Given the description of an element on the screen output the (x, y) to click on. 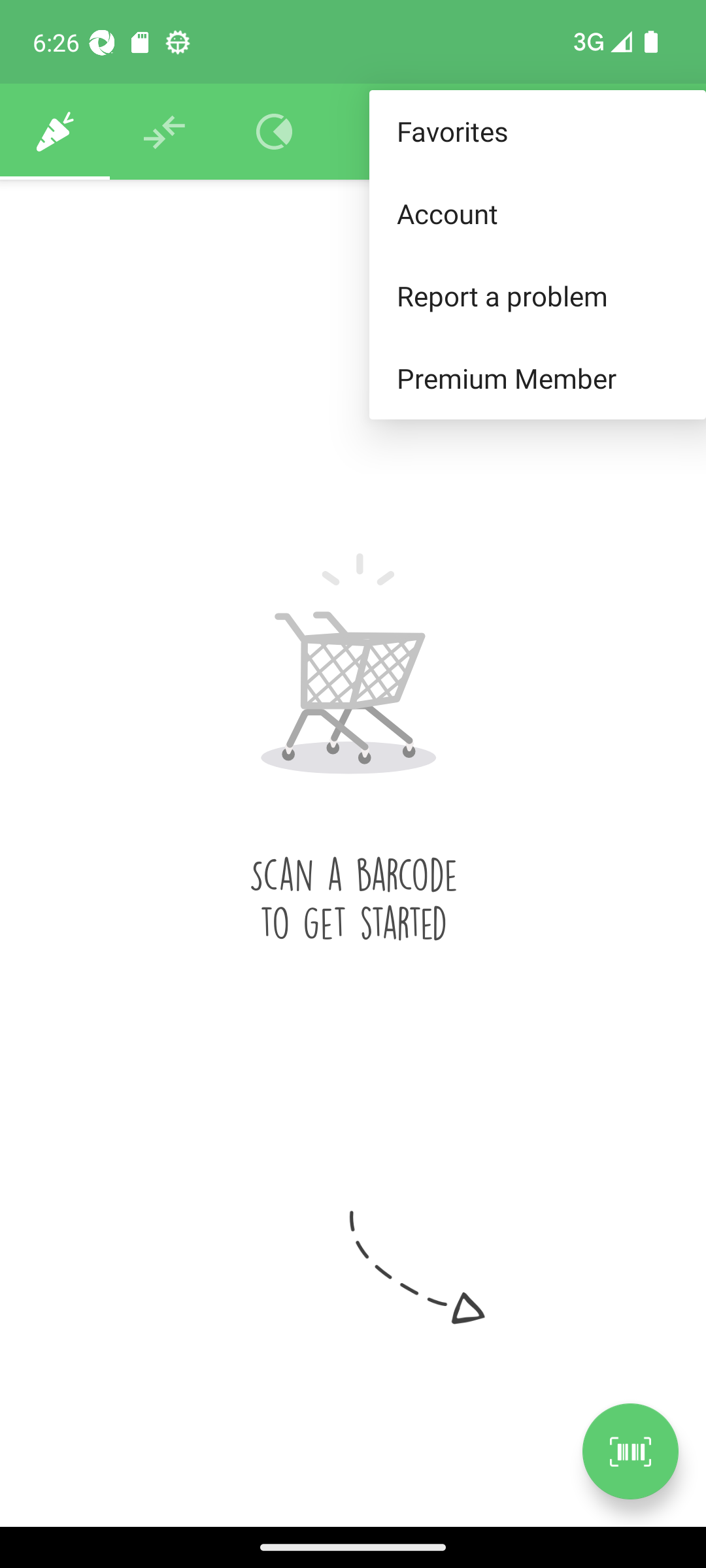
Favorites (537, 131)
Account (537, 213)
Report a problem (537, 295)
Premium Member (537, 378)
